Given the description of an element on the screen output the (x, y) to click on. 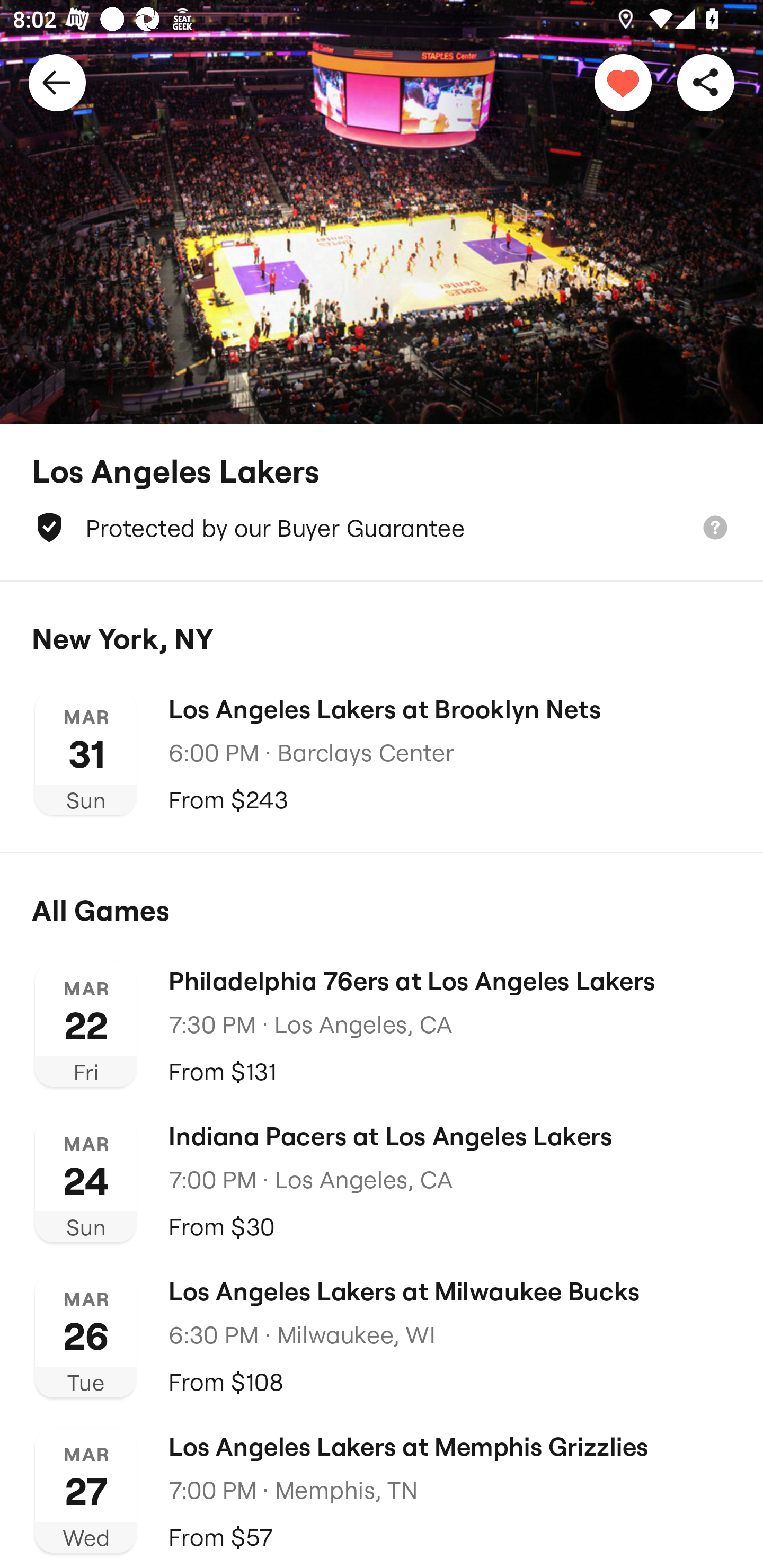
Back (57, 81)
Track this performer (623, 81)
Share this performer (705, 81)
Protected by our Buyer Guarantee Learn more (381, 527)
